Given the description of an element on the screen output the (x, y) to click on. 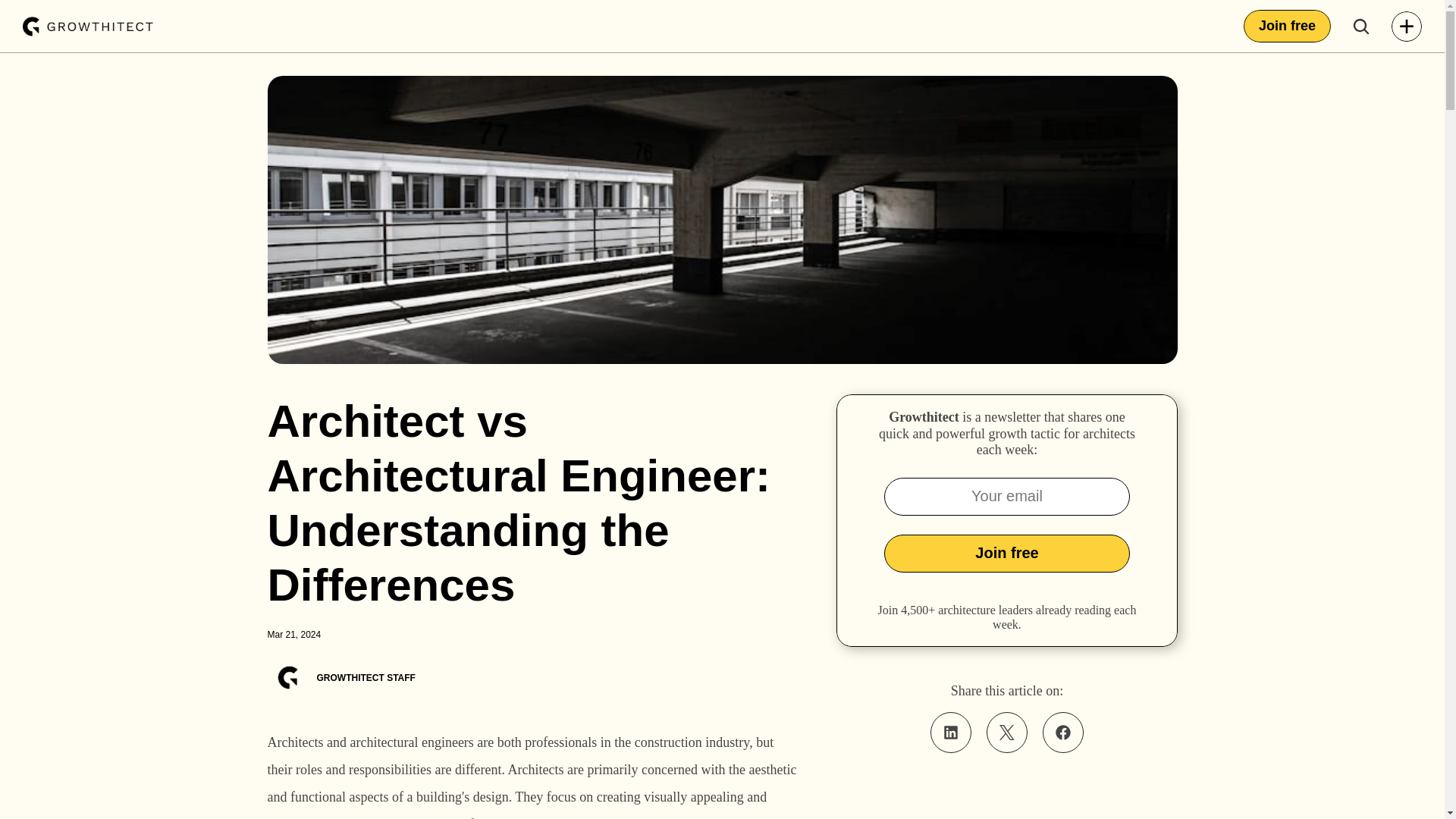
Join free (1286, 25)
Join free (1006, 553)
